Given the description of an element on the screen output the (x, y) to click on. 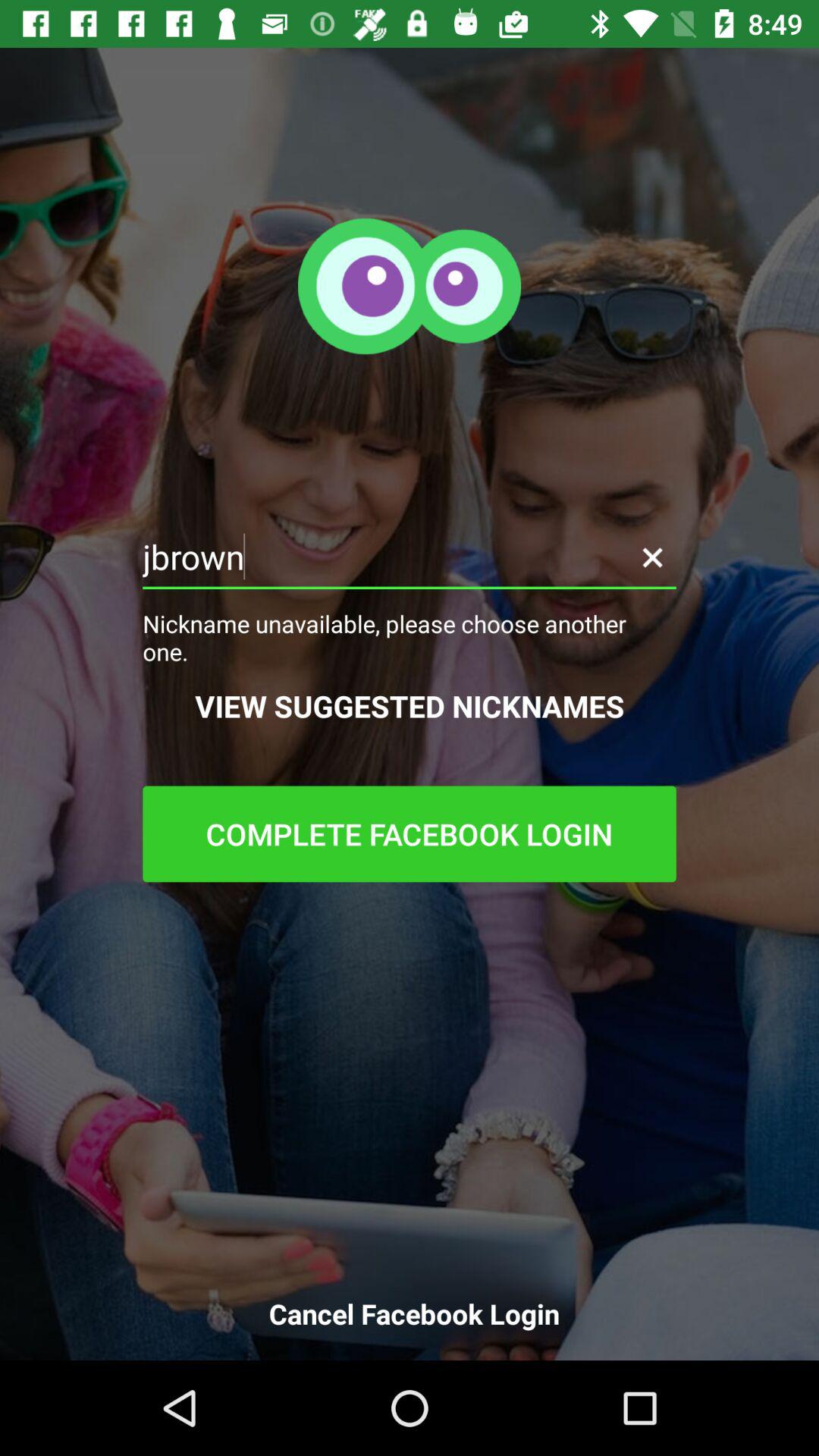
cancel nickname (652, 557)
